Given the description of an element on the screen output the (x, y) to click on. 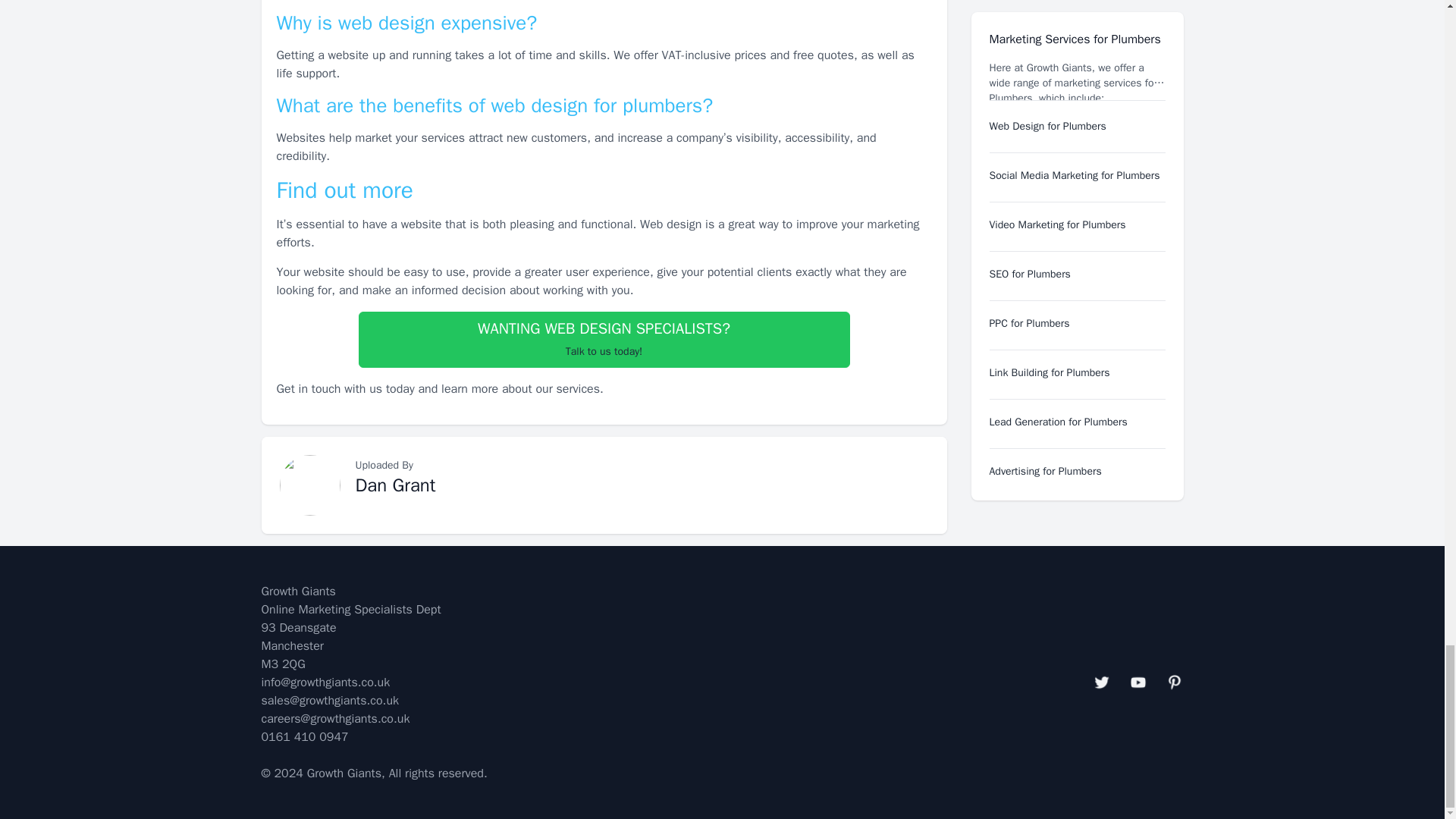
0161 410 0947 (303, 736)
